Given the description of an element on the screen output the (x, y) to click on. 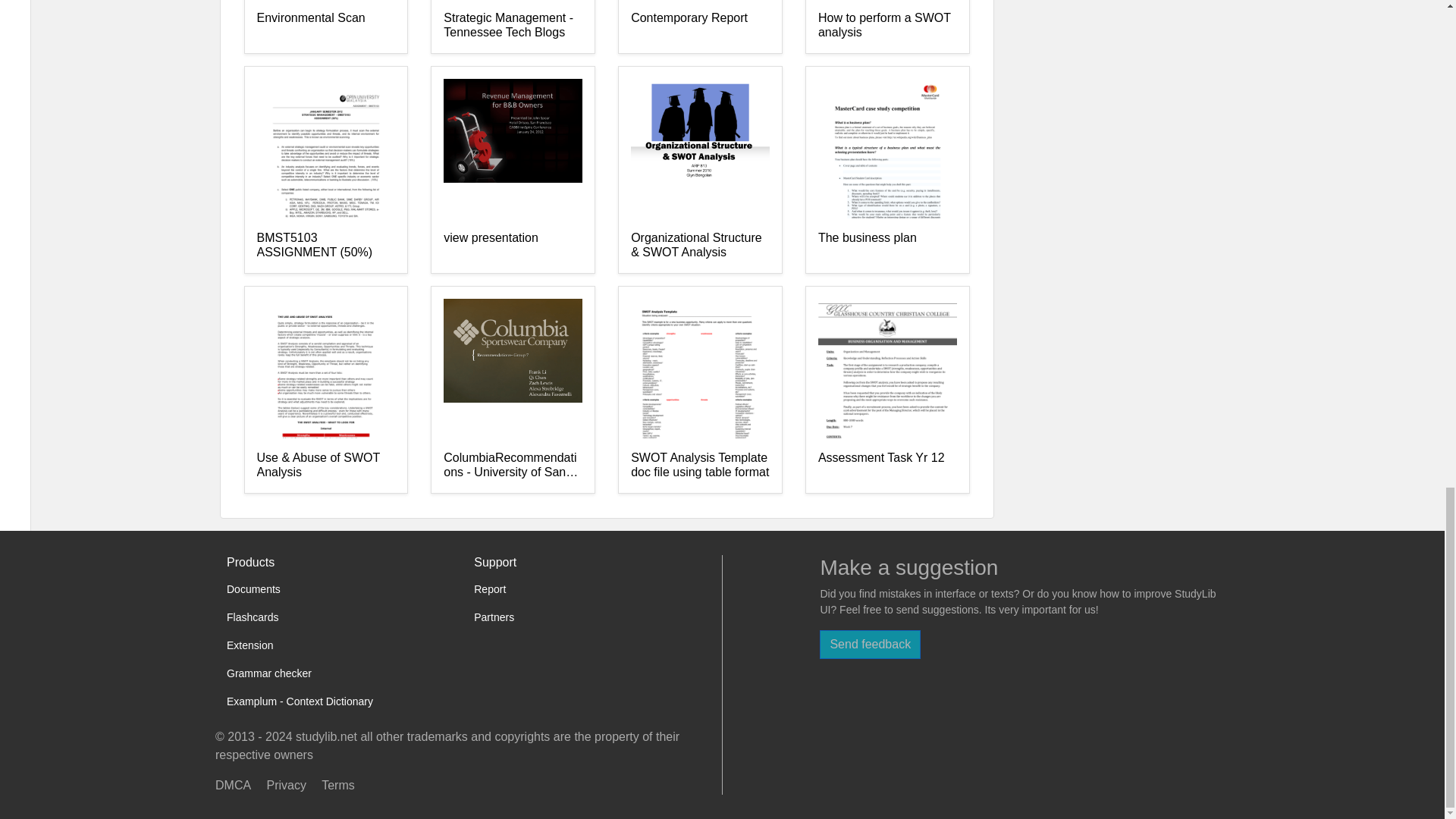
The business plan (887, 245)
Contemporary Report (700, 25)
Assessment Task Yr 12 (887, 465)
Environmental Scan (325, 25)
view presentation (513, 245)
Strategic Management - Tennessee Tech Blogs (513, 25)
Environmental Scan (325, 25)
Strategic Management - Tennessee Tech Blogs (513, 25)
Contemporary Report (700, 25)
ColumbiaRecommendations - University of San Diego Home (513, 465)
